Given the description of an element on the screen output the (x, y) to click on. 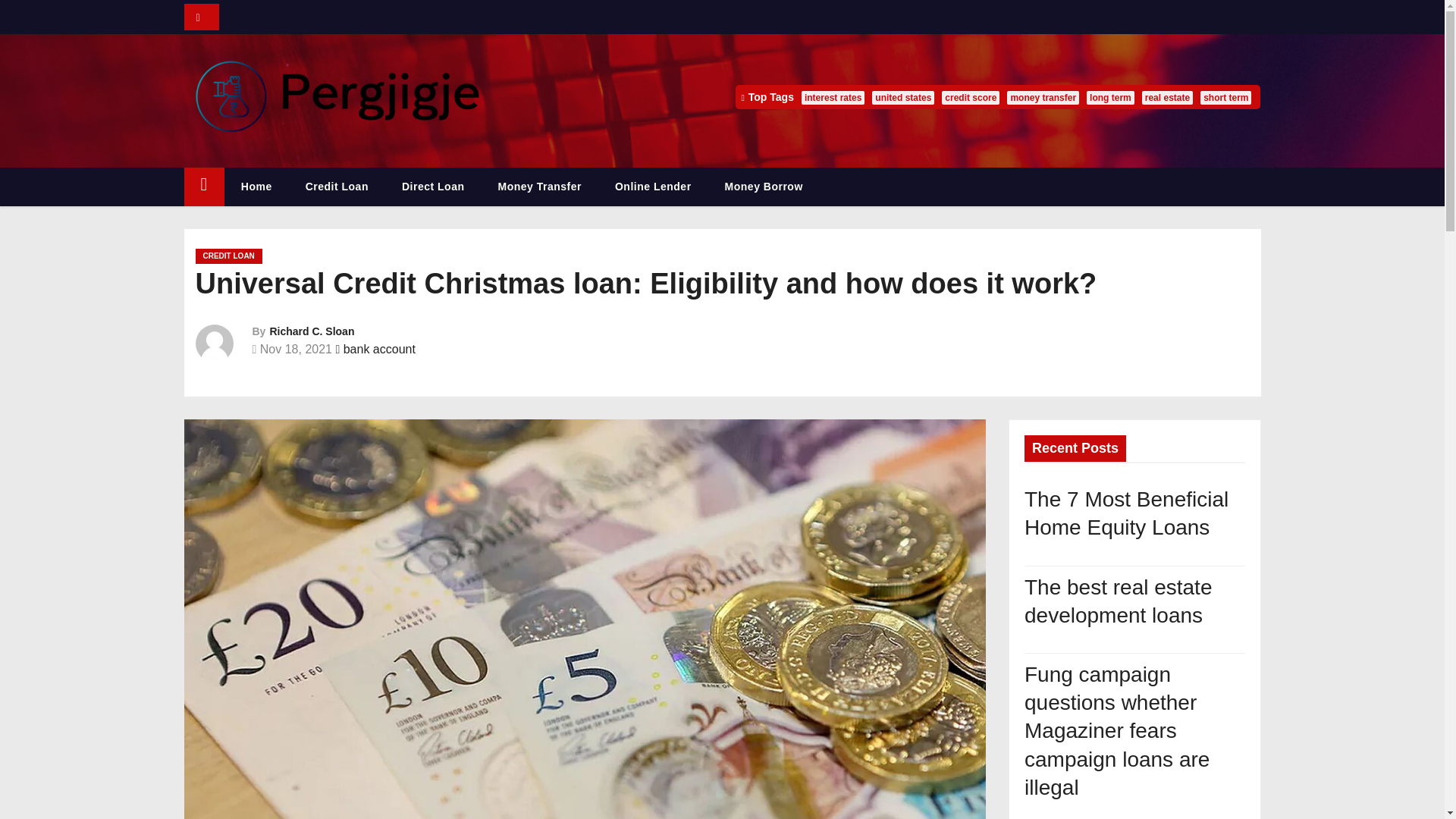
Home (256, 186)
Credit loan (336, 186)
united states (903, 97)
credit score (970, 97)
Money Transfer (538, 186)
Direct loan (433, 186)
money transfer (1042, 97)
CREDIT LOAN (228, 255)
Money Borrow (763, 186)
Online lender (652, 186)
Home (203, 186)
bank account (378, 349)
long term (1110, 97)
Money borrow (763, 186)
Direct Loan (433, 186)
